Given the description of an element on the screen output the (x, y) to click on. 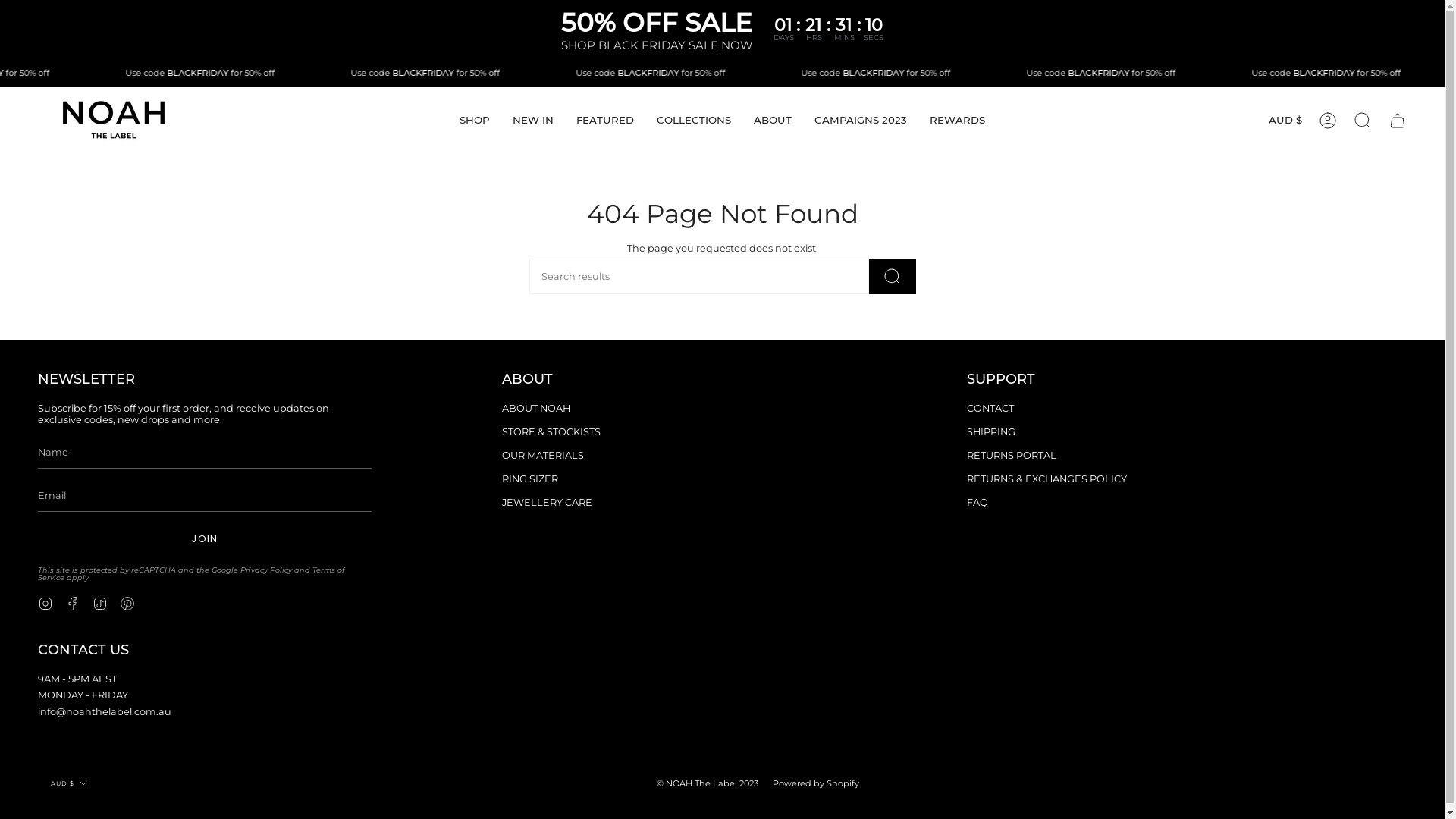
RETURNS PORTAL Element type: text (1011, 455)
ABOUT NOAH Element type: text (536, 408)
REWARDS Element type: text (957, 120)
Cart Element type: text (1397, 120)
CONTACT Element type: text (989, 408)
Instagram Element type: text (45, 602)
NEW IN Element type: text (532, 120)
CAMPAIGNS 2023 Element type: text (860, 120)
FAQ Element type: text (977, 502)
AUD $ Element type: text (69, 782)
SHOP Element type: text (474, 120)
Account Element type: text (1327, 120)
STORE & STOCKISTS Element type: text (551, 431)
RETURNS & EXCHANGES POLICY Element type: text (1046, 478)
TikTok Element type: text (99, 602)
FEATURED Element type: text (604, 120)
Facebook Element type: text (72, 602)
JEWELLERY CARE Element type: text (547, 502)
COLLECTIONS Element type: text (693, 120)
Pinterest Element type: text (126, 602)
OUR MATERIALS Element type: text (542, 455)
Privacy Policy Element type: text (265, 569)
Terms of Service Element type: text (190, 573)
AUD $ Element type: text (1285, 120)
SHIPPING Element type: text (990, 431)
JOIN Element type: text (204, 539)
ABOUT Element type: text (772, 120)
RING SIZER Element type: text (530, 478)
Powered by Shopify Element type: text (815, 783)
